Given the description of an element on the screen output the (x, y) to click on. 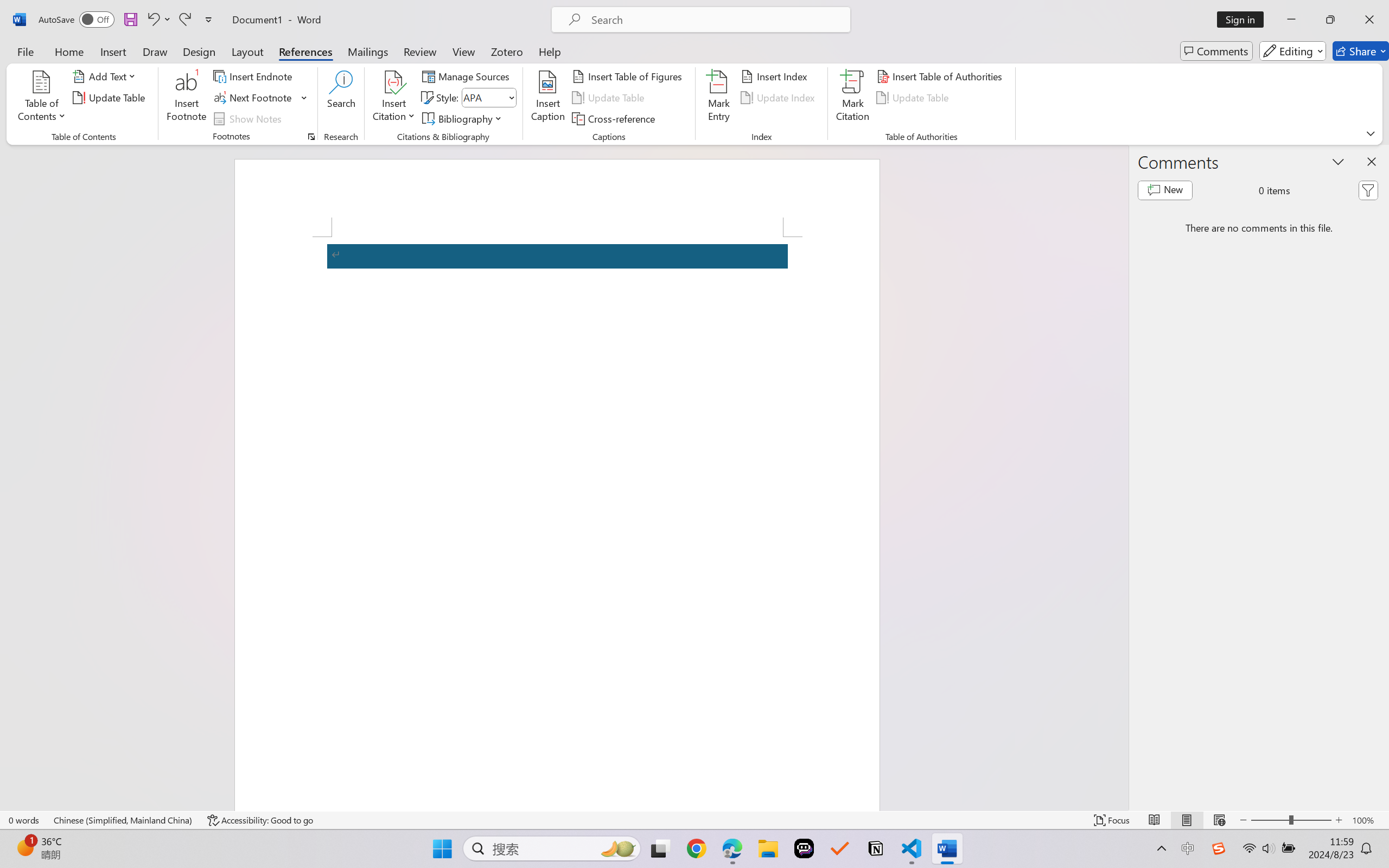
Manage Sources... (467, 75)
Mark Entry... (718, 97)
Update Table... (110, 97)
Next Footnote (253, 97)
Undo Apply Quick Style Set (152, 19)
Insert Footnote (186, 97)
Add Text (106, 75)
